Given the description of an element on the screen output the (x, y) to click on. 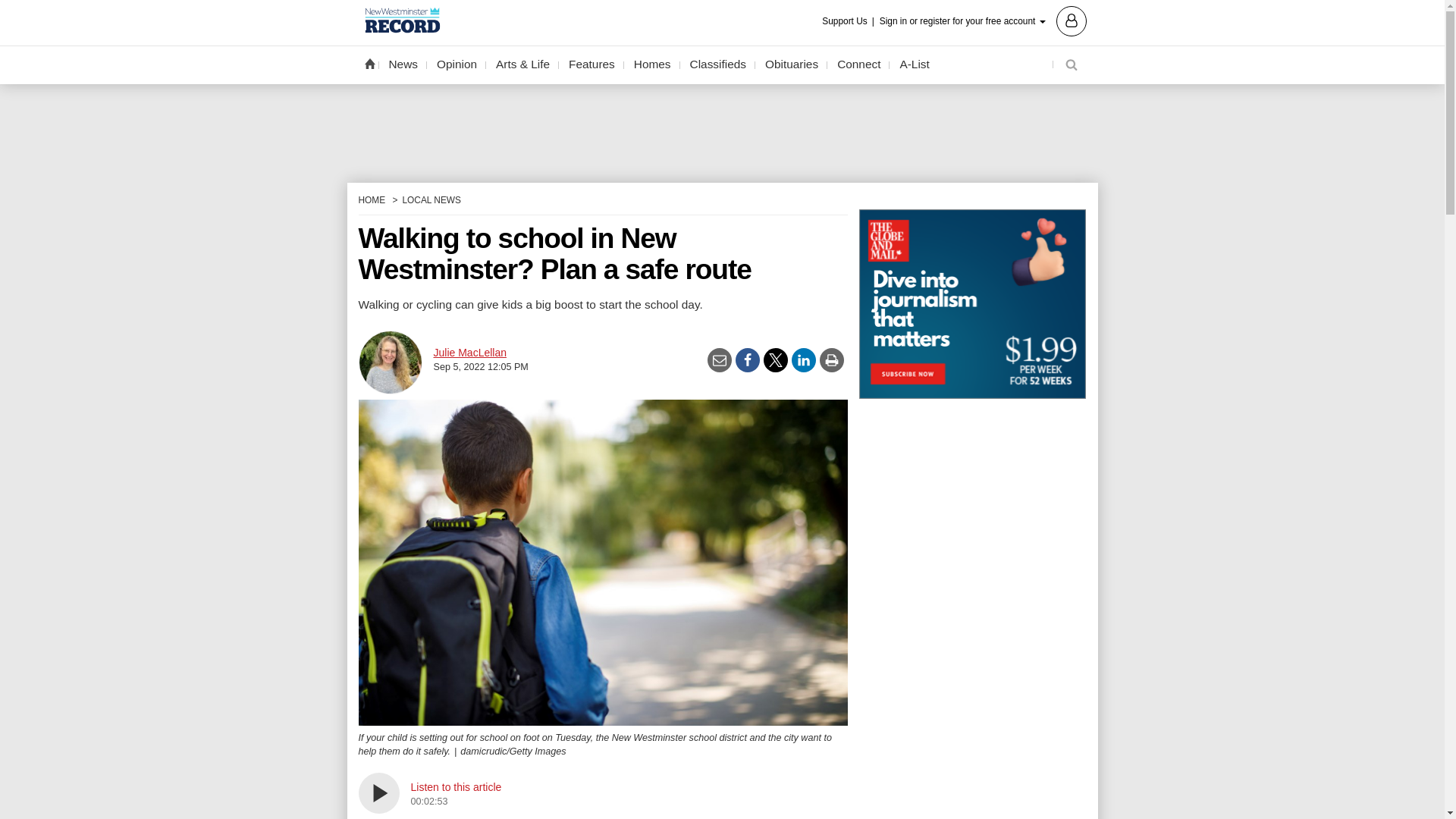
News (403, 64)
Sign in or register for your free account (982, 20)
Home (368, 63)
Opinion (456, 64)
Support Us (849, 21)
